Given the description of an element on the screen output the (x, y) to click on. 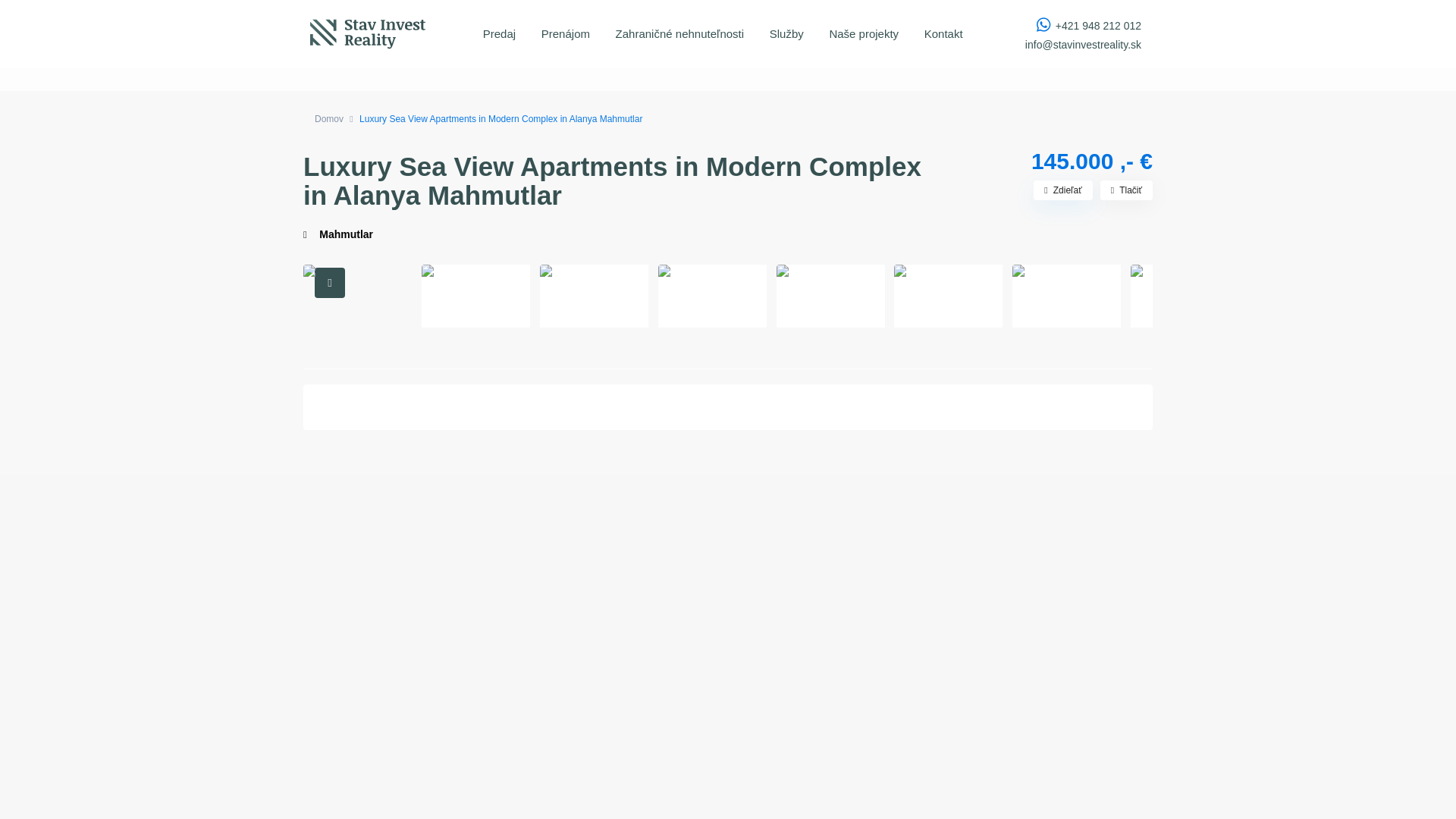
Kontakt (943, 33)
Domov (328, 118)
